Given the description of an element on the screen output the (x, y) to click on. 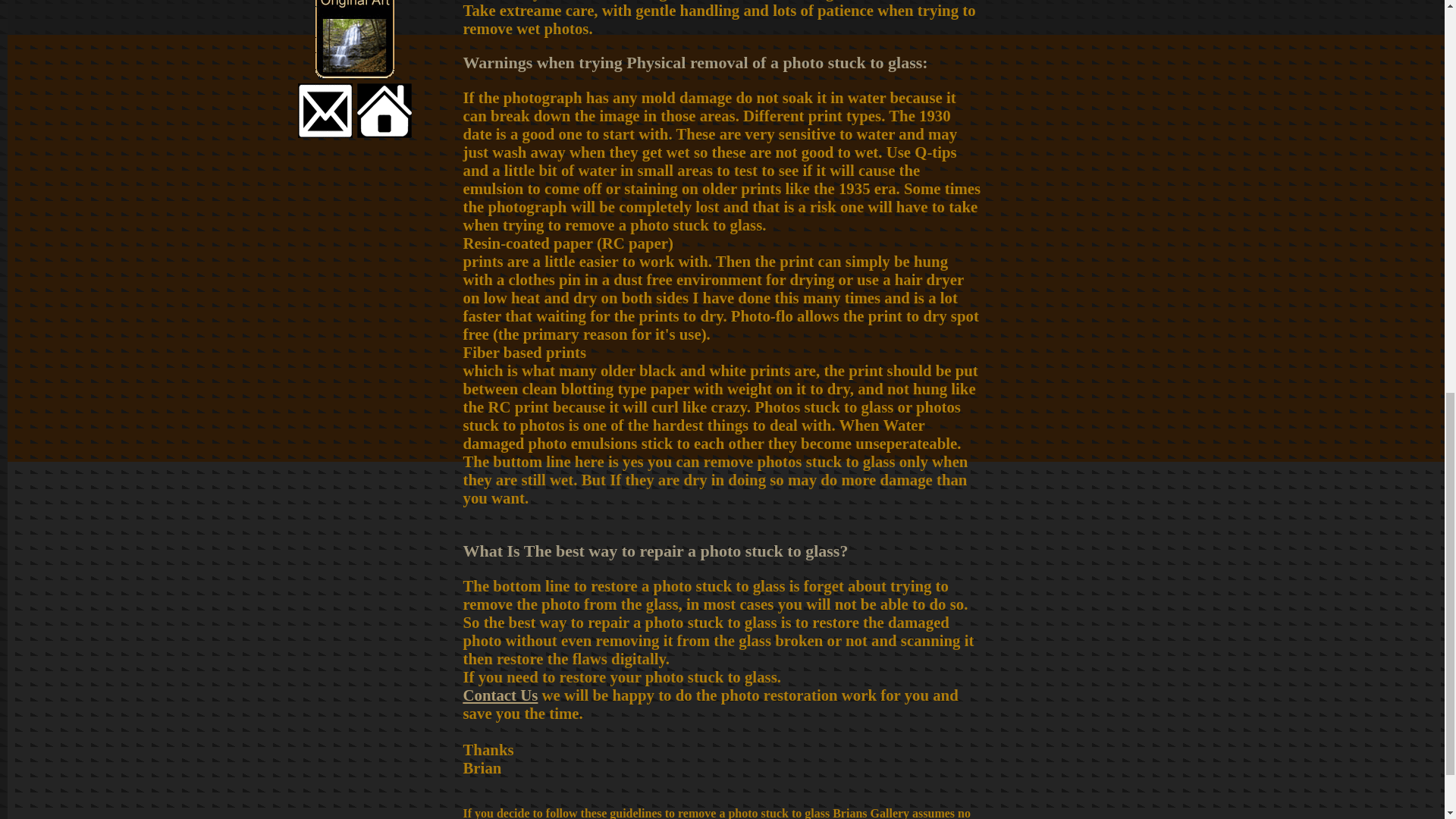
Contact Us (500, 694)
contact us (325, 131)
home (384, 131)
My Paintings (355, 73)
